Given the description of an element on the screen output the (x, y) to click on. 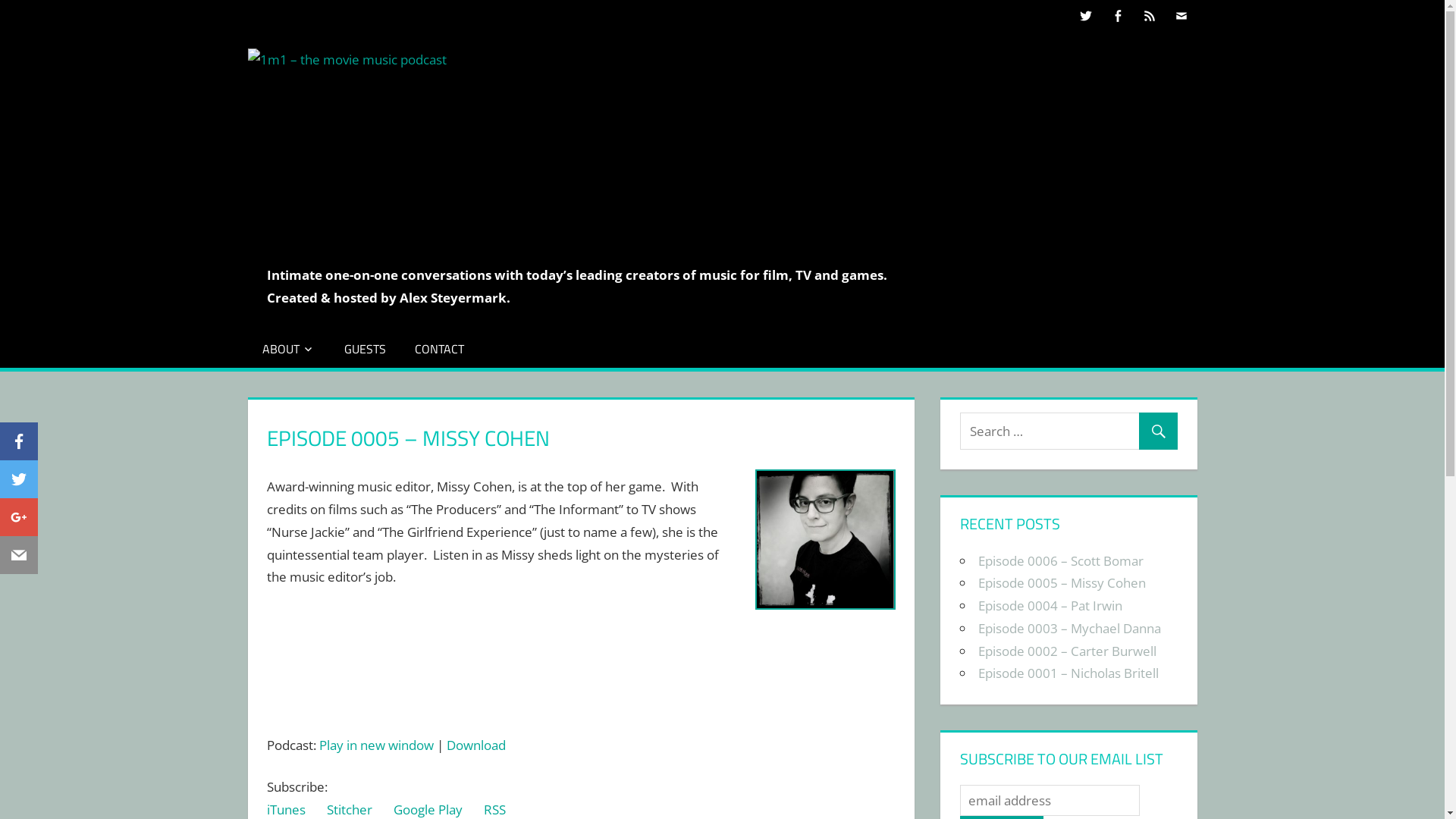
ABOUT Element type: text (288, 347)
Twitter Element type: text (18, 481)
Play in new window Element type: text (376, 744)
iTunes Element type: text (285, 809)
GUESTS Element type: text (364, 347)
Stitcher Element type: text (349, 809)
Skip to content Element type: text (0, 0)
Search for: Element type: hover (1068, 430)
Google Play Element type: text (427, 809)
Email Element type: text (18, 557)
RSS Element type: text (494, 809)
Google+ Element type: text (18, 519)
CONTACT Element type: text (439, 347)
Facebook Element type: text (18, 443)
Download Element type: text (475, 744)
